Given the description of an element on the screen output the (x, y) to click on. 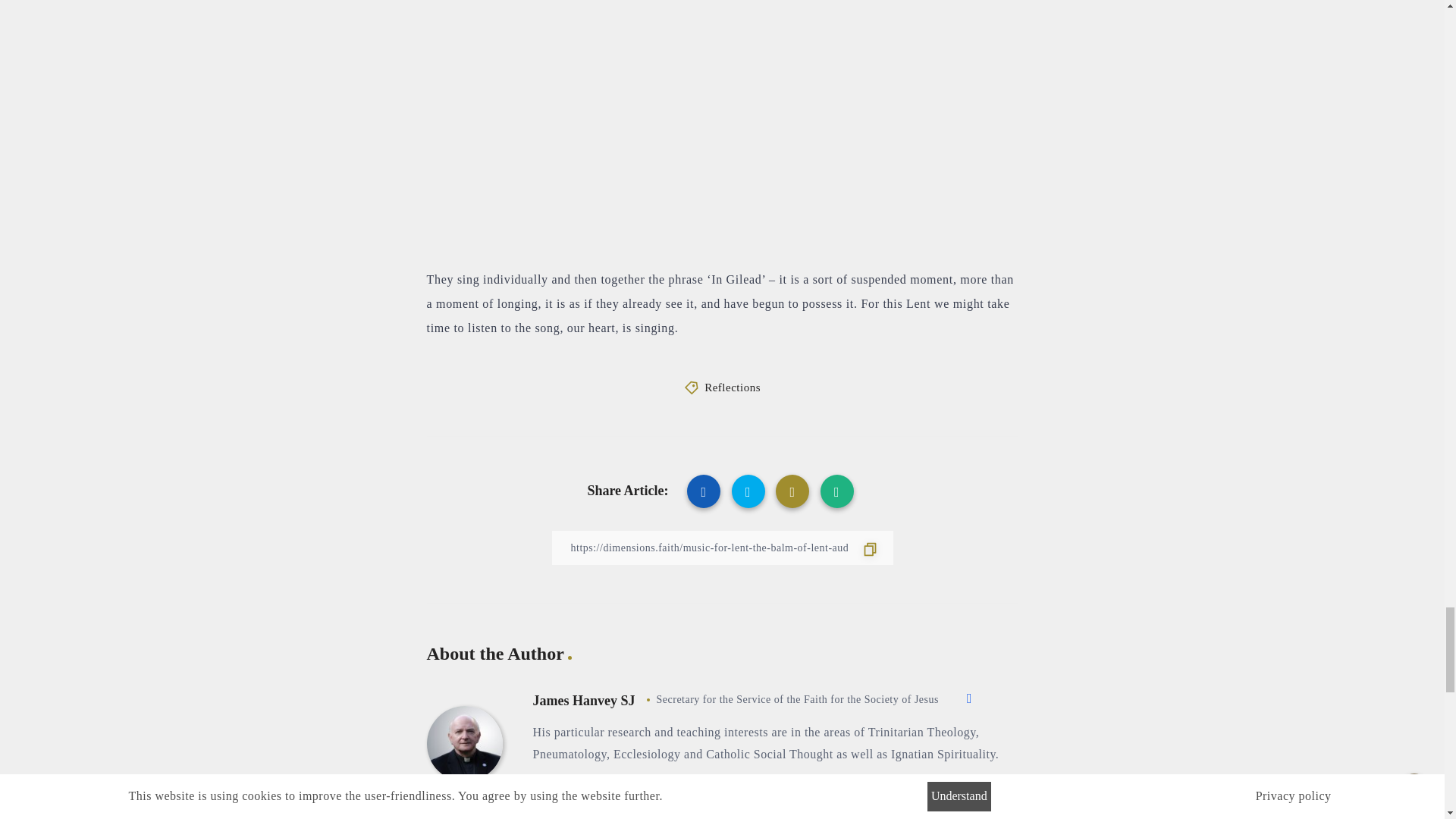
James Hanvey SJ (583, 700)
View All Articles (588, 796)
Reflections (732, 387)
